Given the description of an element on the screen output the (x, y) to click on. 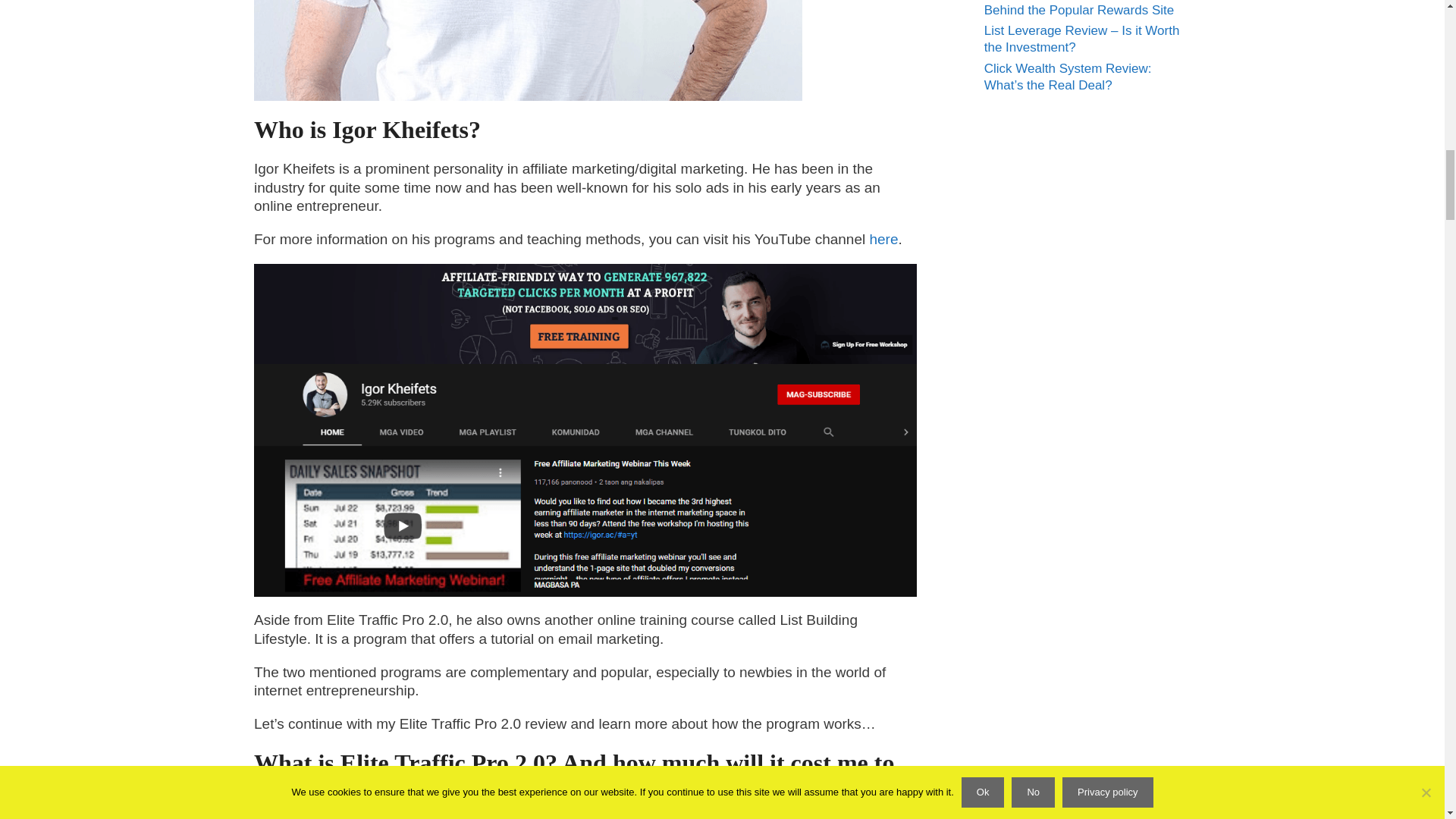
here (883, 238)
